Given the description of an element on the screen output the (x, y) to click on. 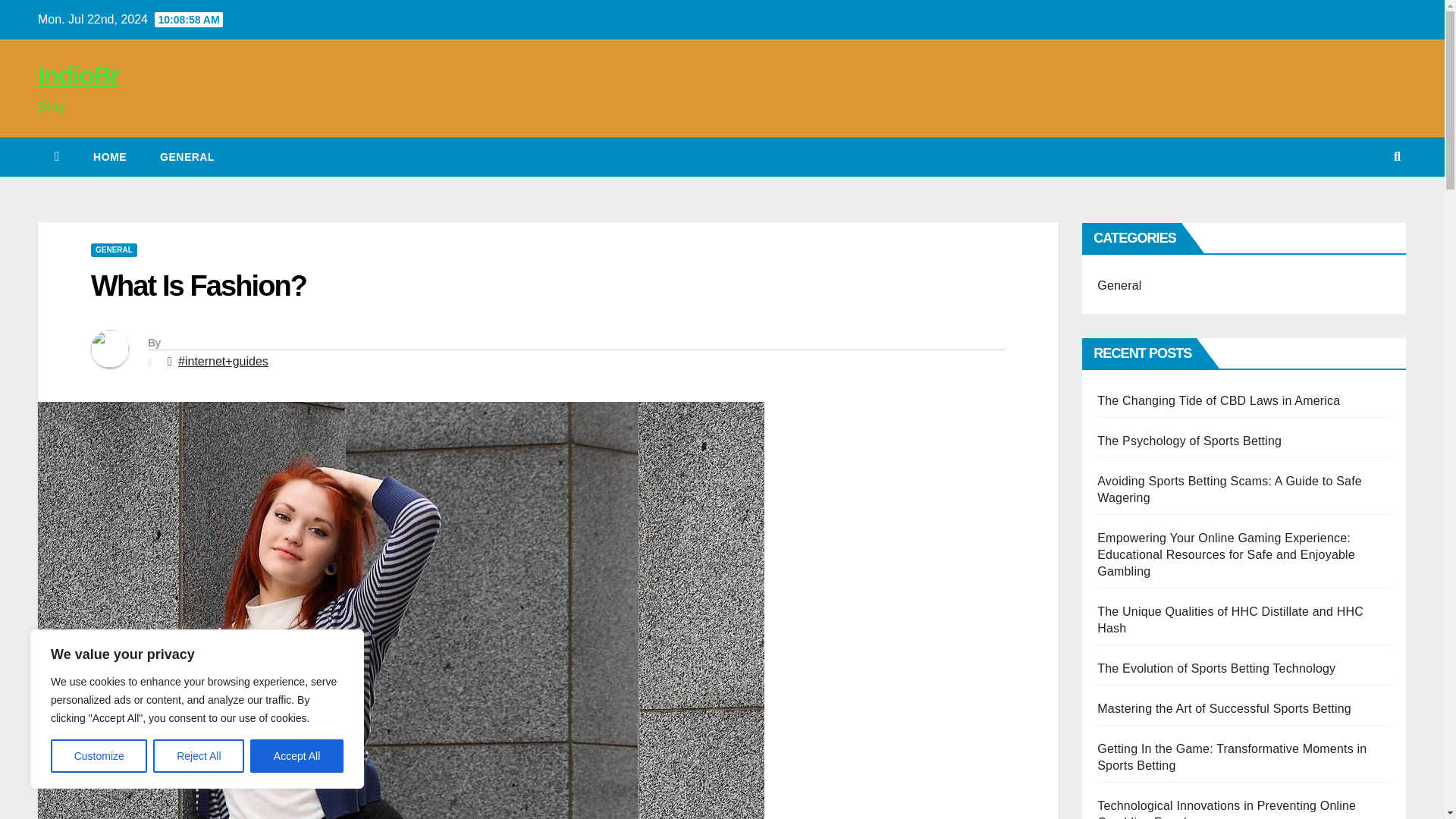
Customize (98, 756)
IndioBr (78, 74)
Accept All (296, 756)
General (186, 156)
Reject All (198, 756)
GENERAL (186, 156)
GENERAL (113, 250)
Home (109, 156)
Permalink to: What Is Fashion? (197, 286)
HOME (109, 156)
What Is Fashion? (197, 286)
